Given the description of an element on the screen output the (x, y) to click on. 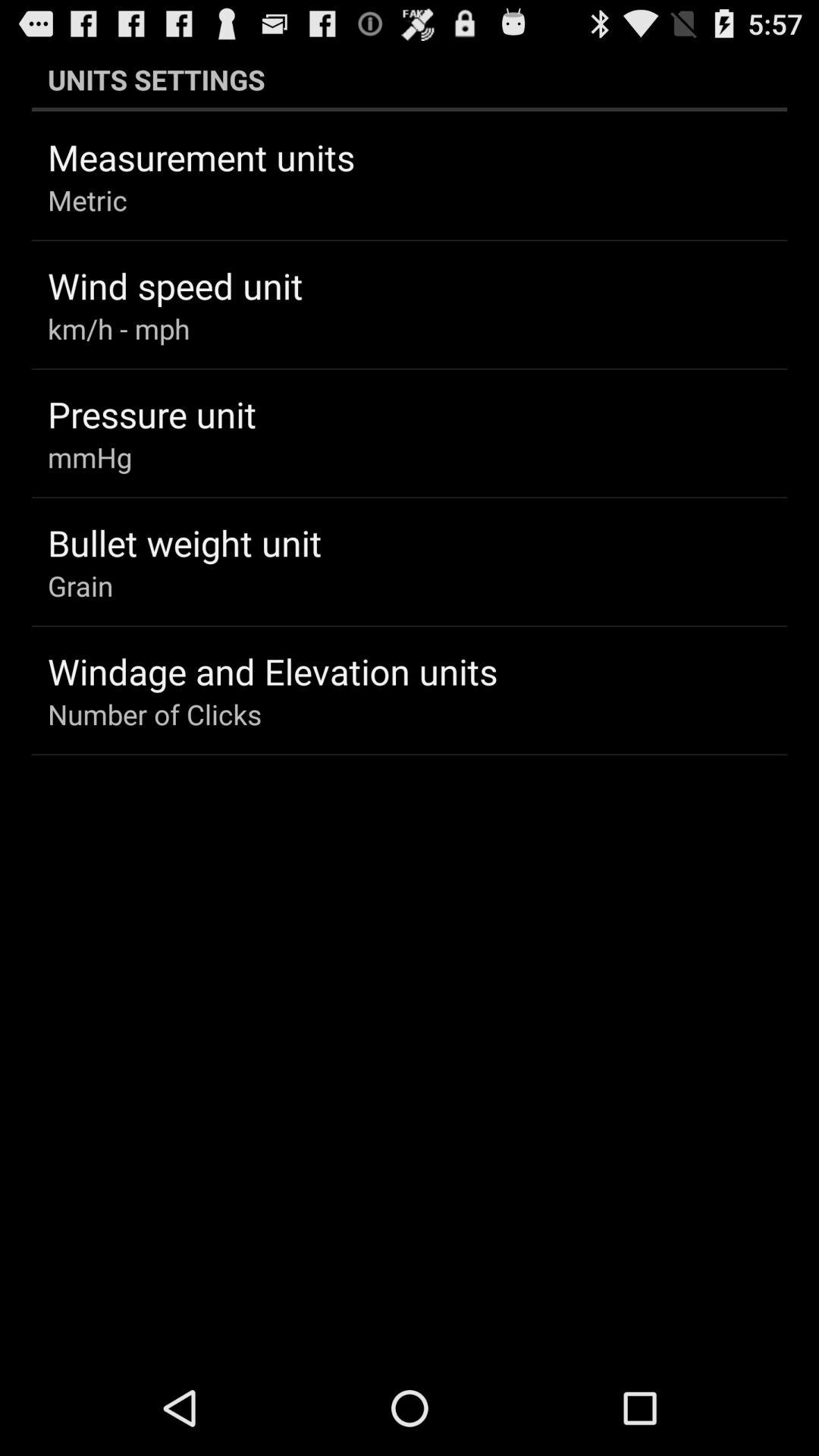
press the mmhg icon (89, 457)
